Given the description of an element on the screen output the (x, y) to click on. 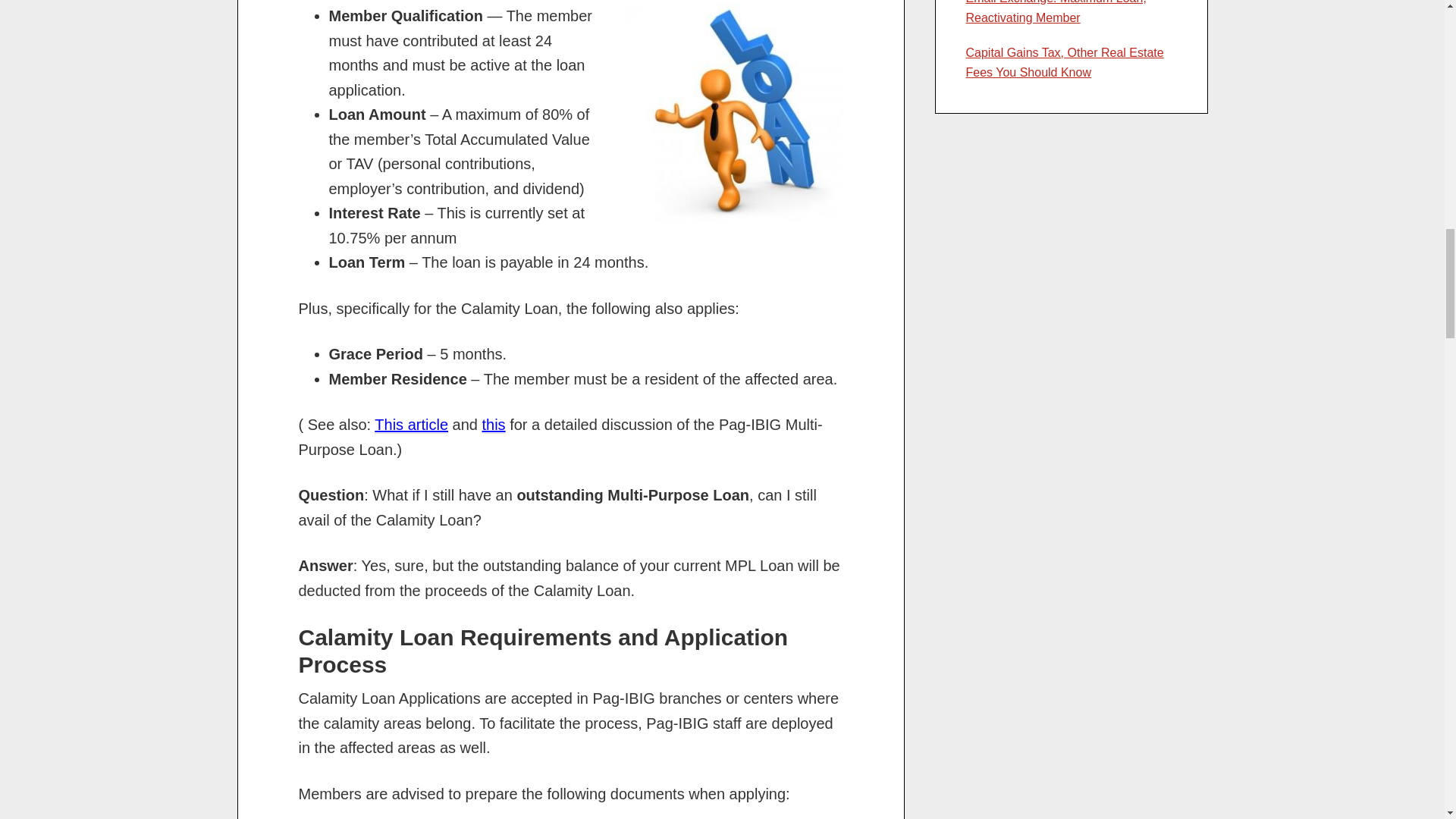
more on Pag-IBIG Loan (493, 425)
this (493, 425)
This article (411, 425)
Pag-IBIG MPL Loan (411, 425)
pag-ibig-calamity-loan (729, 115)
